Given the description of an element on the screen output the (x, y) to click on. 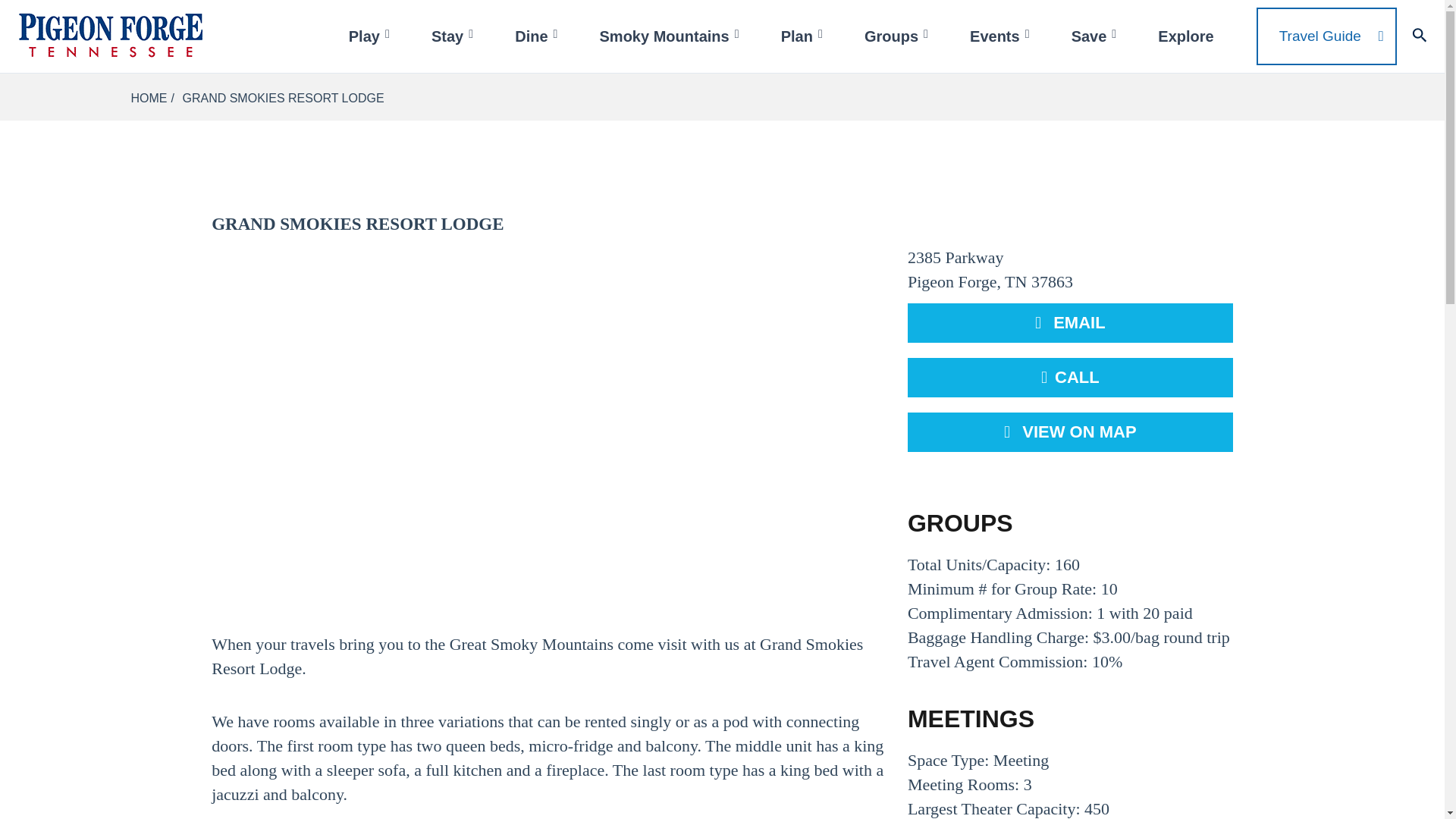
Dine (537, 36)
Stay (454, 36)
Smoky Mountains (670, 36)
Play (371, 36)
